Given the description of an element on the screen output the (x, y) to click on. 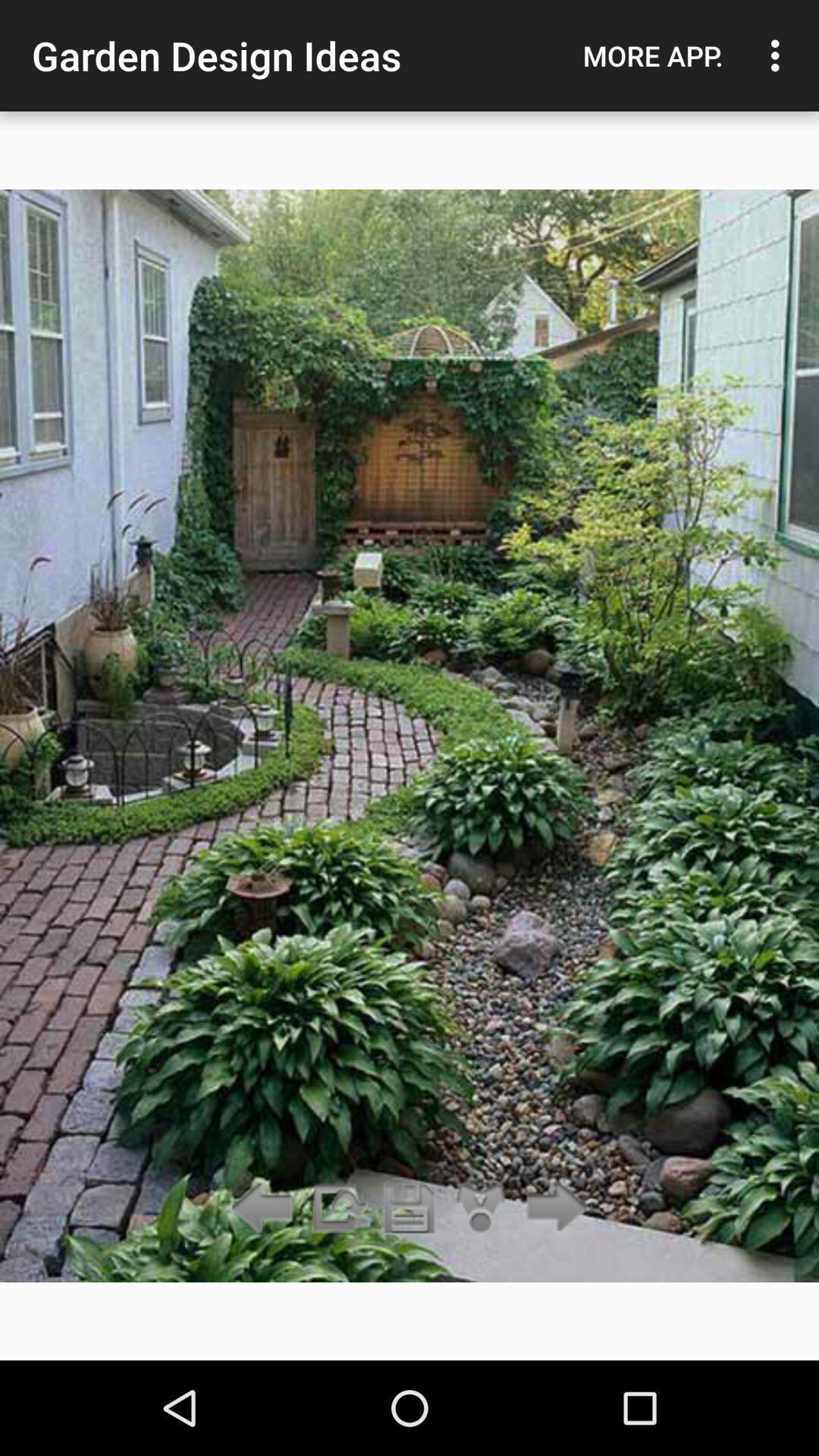
go back (266, 1209)
